Given the description of an element on the screen output the (x, y) to click on. 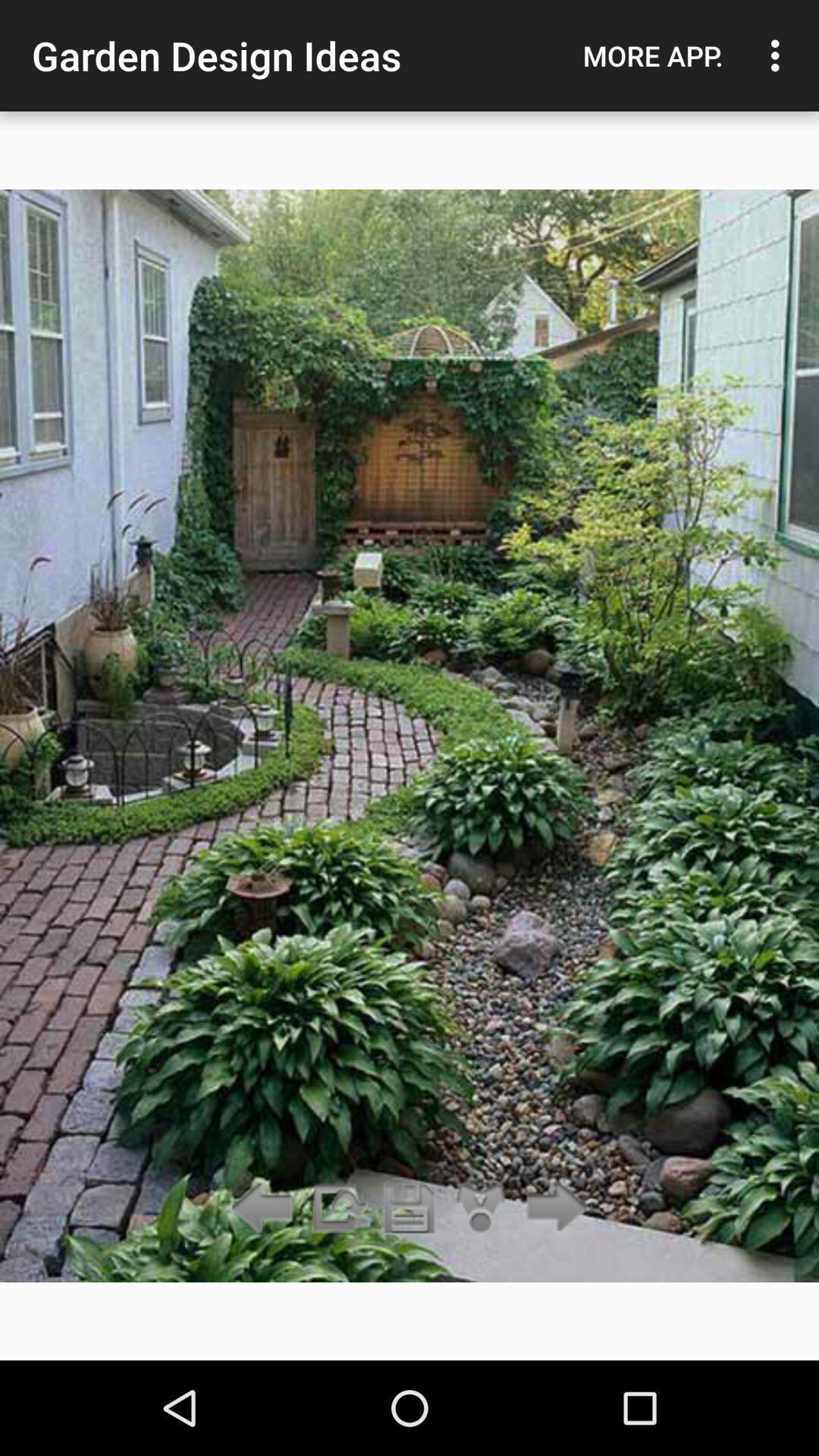
go back (266, 1209)
